Given the description of an element on the screen output the (x, y) to click on. 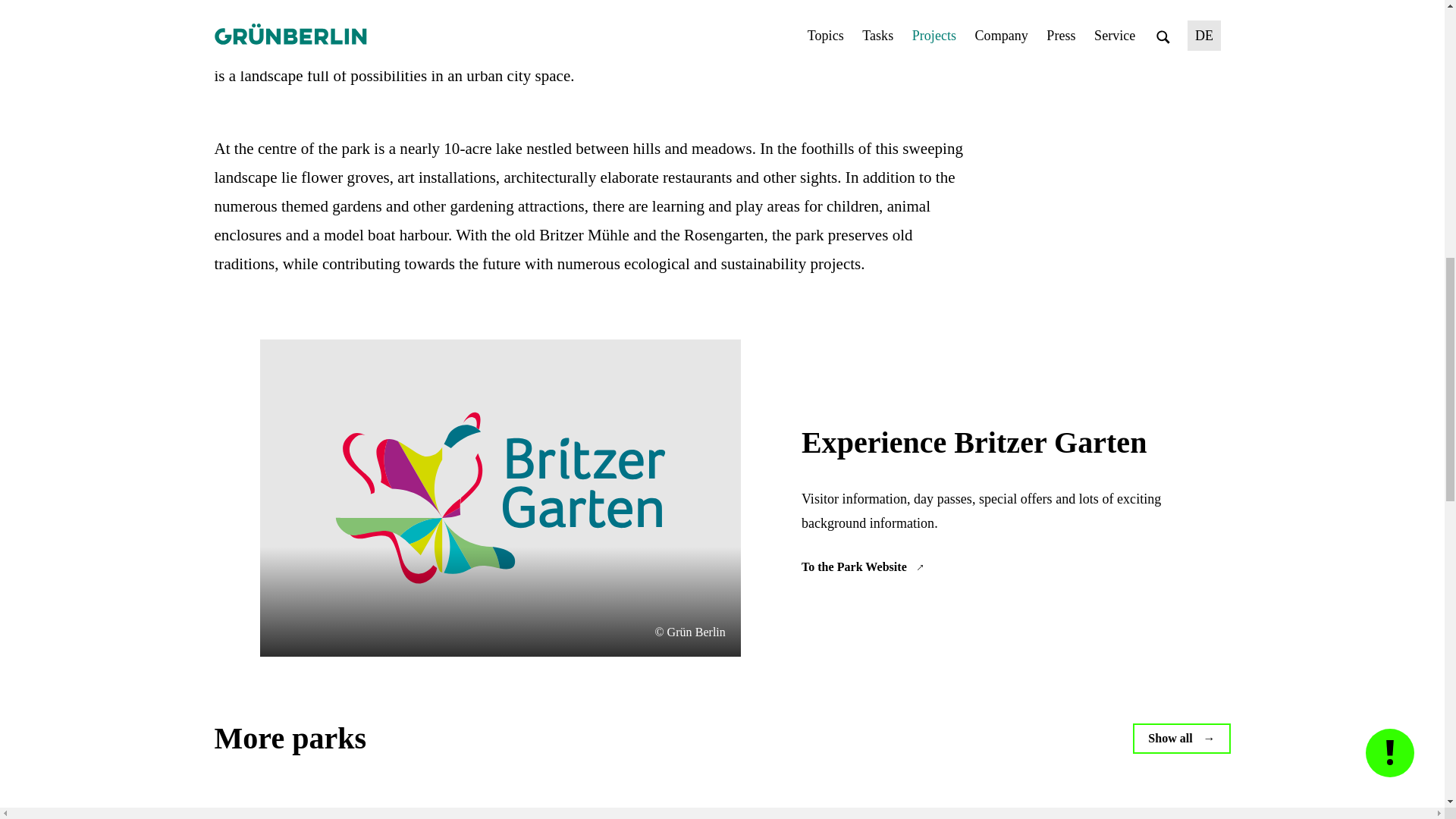
Show all (1181, 738)
To the Park Website (864, 567)
